Given the description of an element on the screen output the (x, y) to click on. 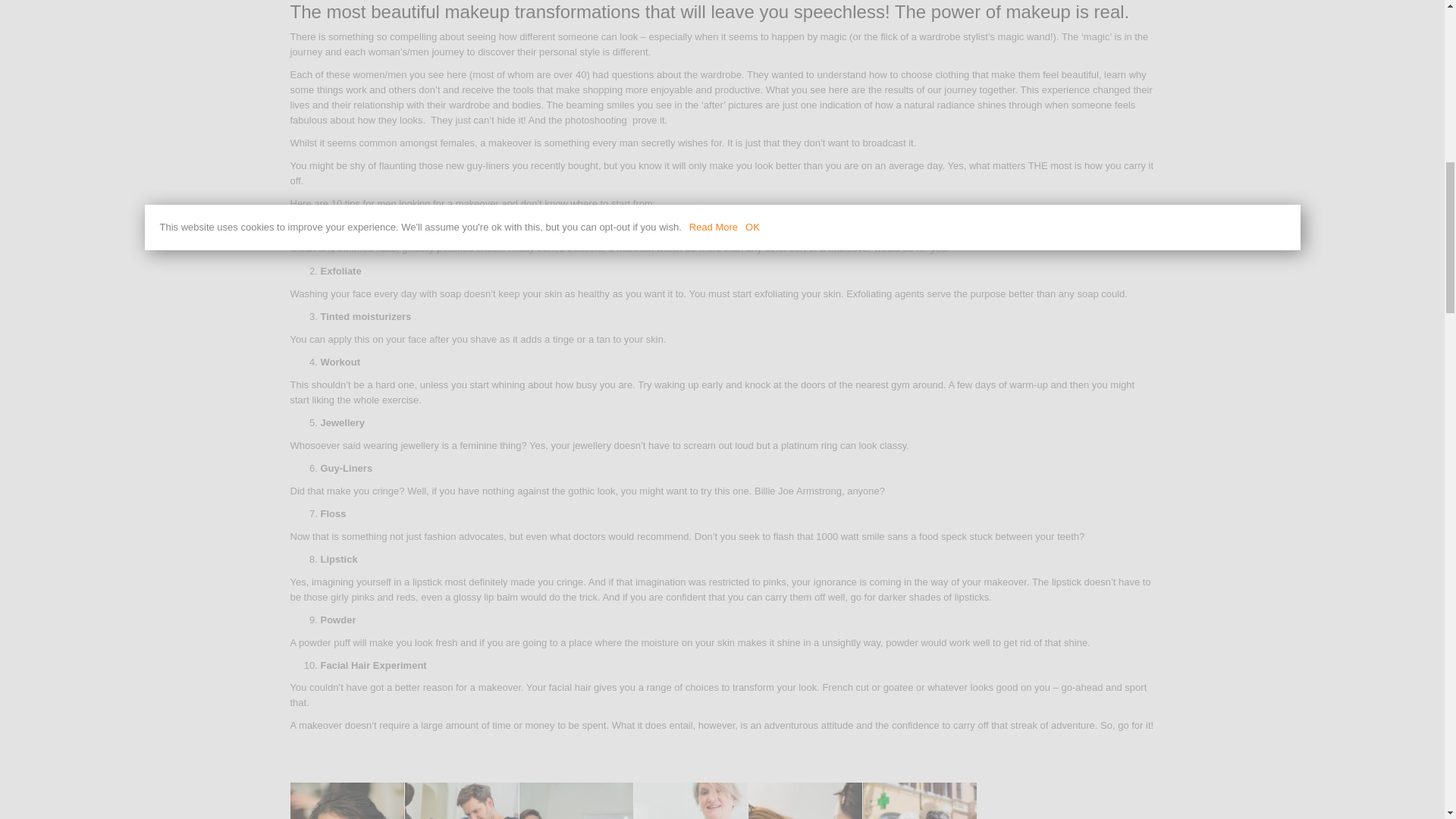
IMG17 (690, 800)
IMG21 (919, 800)
IMG15 (461, 800)
IMG18 (804, 800)
IMG14 (346, 800)
IMG16 (574, 800)
